Given the description of an element on the screen output the (x, y) to click on. 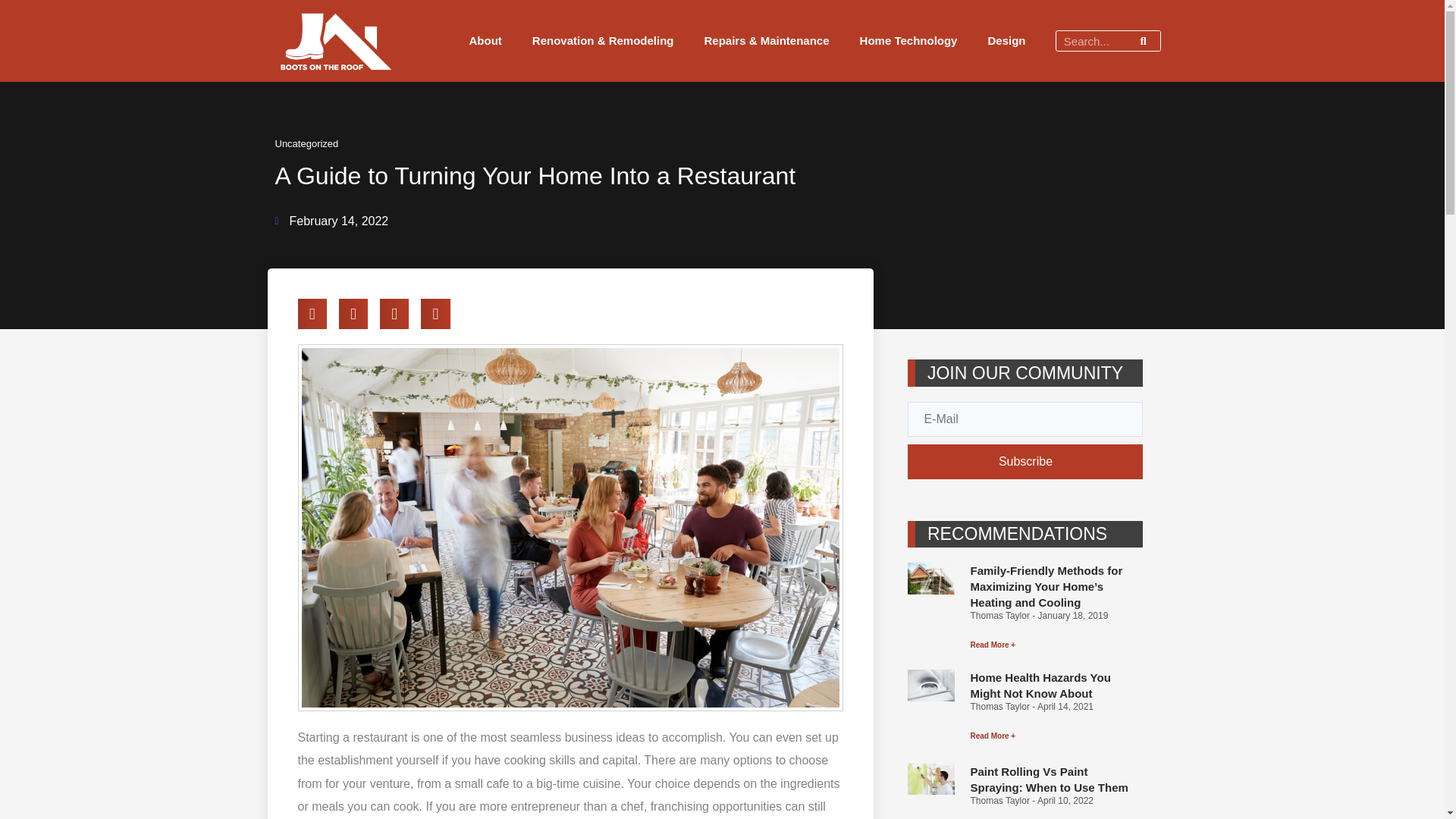
Subscribe (1024, 461)
February 14, 2022 (331, 220)
Design (1006, 40)
Paint Rolling Vs Paint Spraying: When to Use Them (1047, 778)
About (484, 40)
Uncategorized (306, 143)
Home Technology (908, 40)
Search (1142, 40)
Home Health Hazards You Might Not Know About (1039, 685)
